Given the description of an element on the screen output the (x, y) to click on. 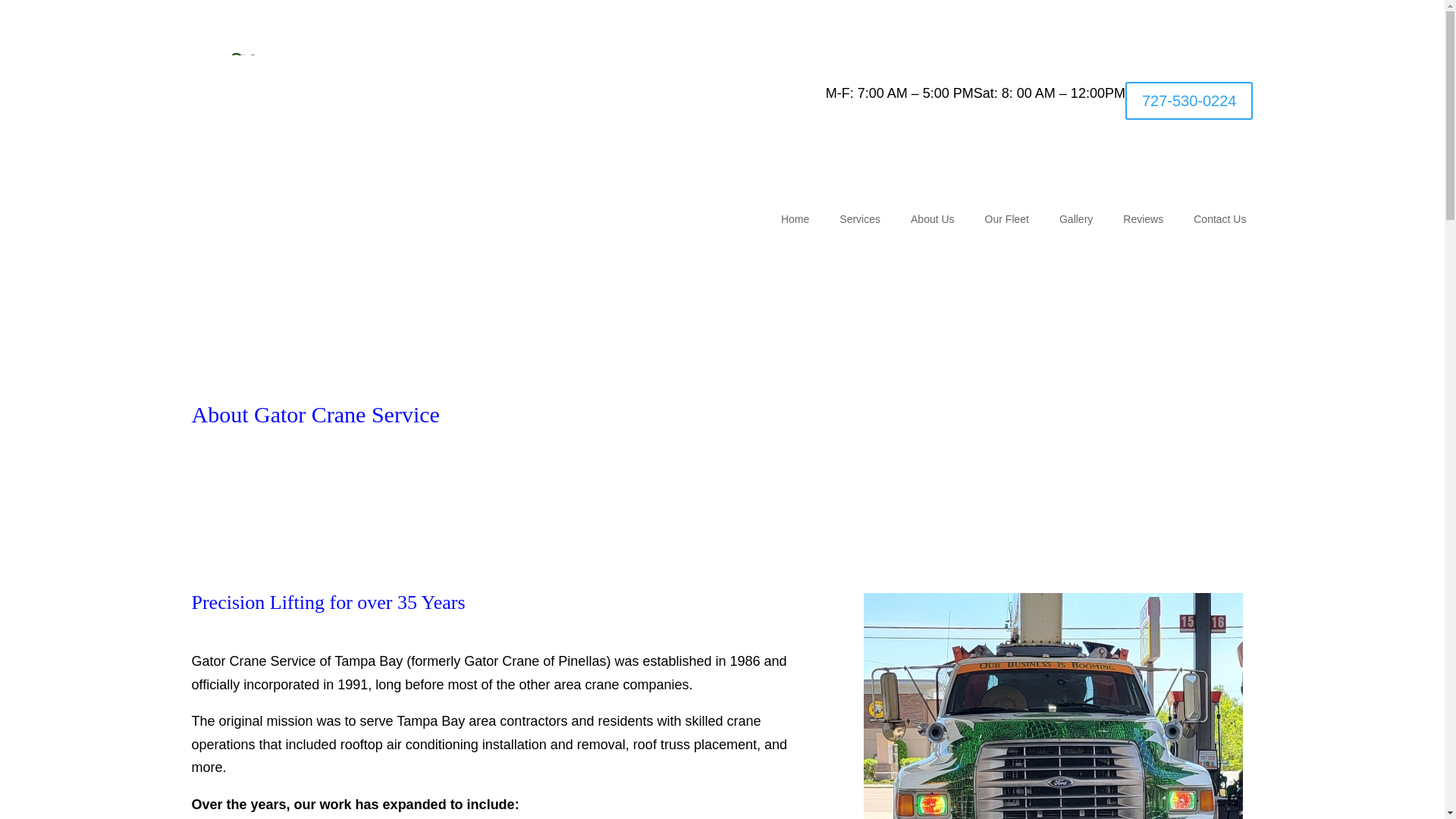
Reviews (1142, 221)
Home (794, 221)
About Us (933, 221)
Contact Us (1219, 221)
727-530-0224 (1189, 100)
Gallery (1076, 221)
Services (860, 221)
Our Fleet (1007, 221)
